Given the description of an element on the screen output the (x, y) to click on. 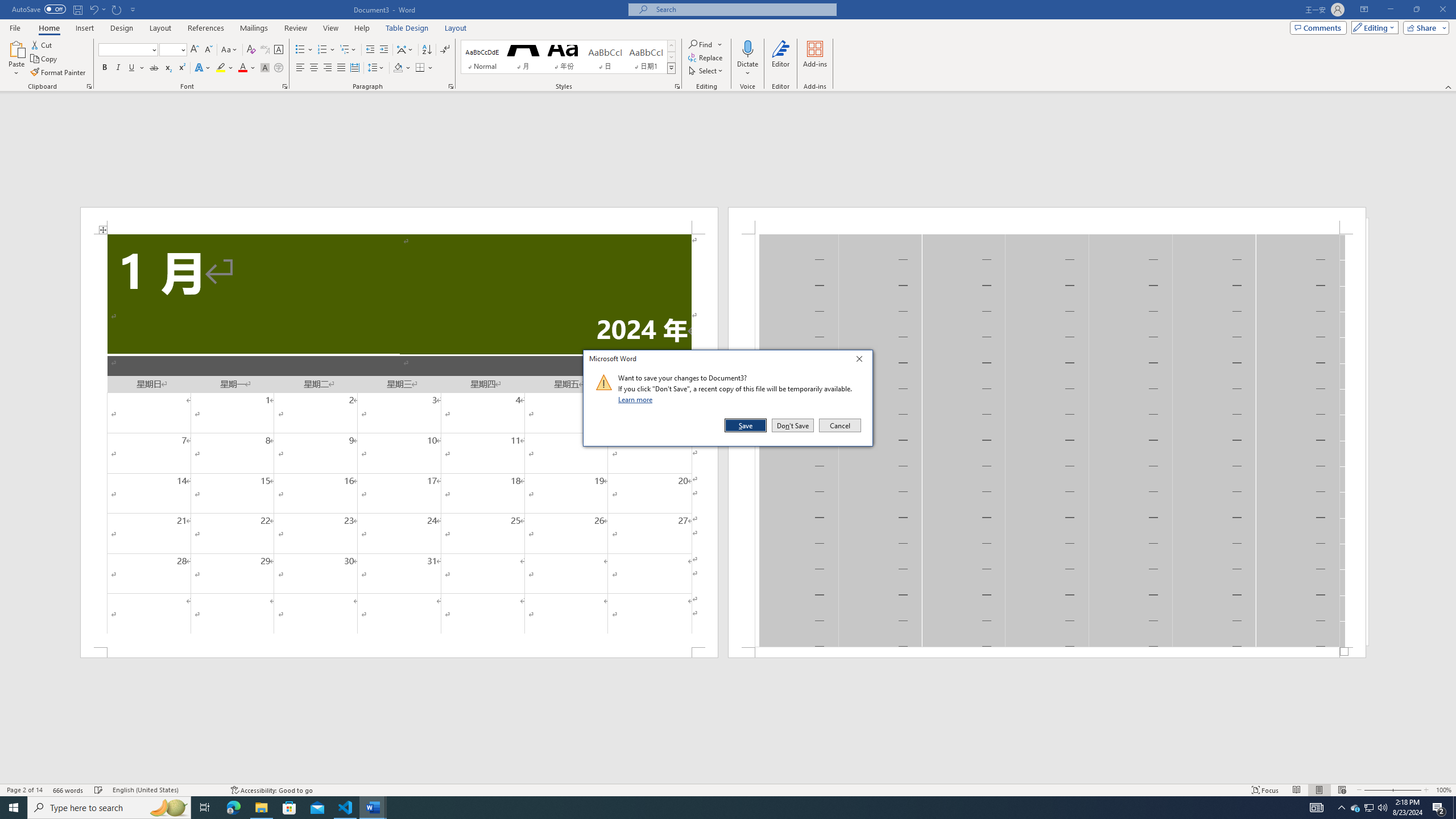
Task View (204, 807)
Accessibility Checker Accessibility: Good to go (271, 790)
Class: MsoCommandBar (728, 789)
Don't Save (792, 425)
Numbering (326, 49)
Footer -Section 1- (1046, 652)
Character Shading (264, 67)
Format Painter (58, 72)
Editor (780, 58)
Character Border (278, 49)
Help (361, 28)
Start (13, 807)
